Given the description of an element on the screen output the (x, y) to click on. 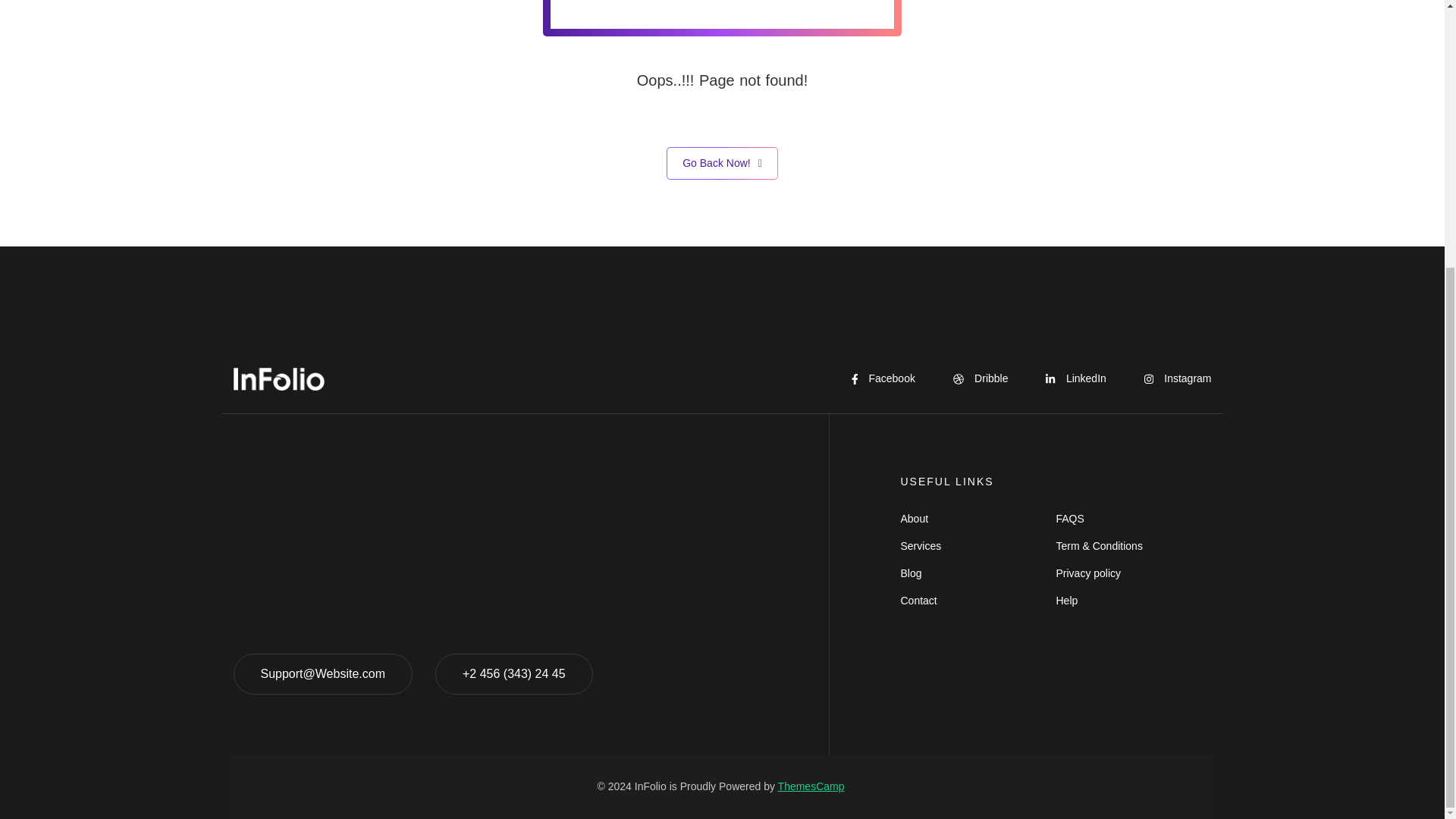
About (979, 519)
LinkedIn (1075, 377)
Instagram (1177, 377)
ThemesCamp (810, 786)
Blog (979, 573)
Go Back Now! (721, 163)
Dribble (981, 377)
Help (1133, 600)
Contact (979, 600)
Services (979, 546)
Privacy policy (1133, 573)
FAQS (1133, 519)
Facebook (883, 377)
